Given the description of an element on the screen output the (x, y) to click on. 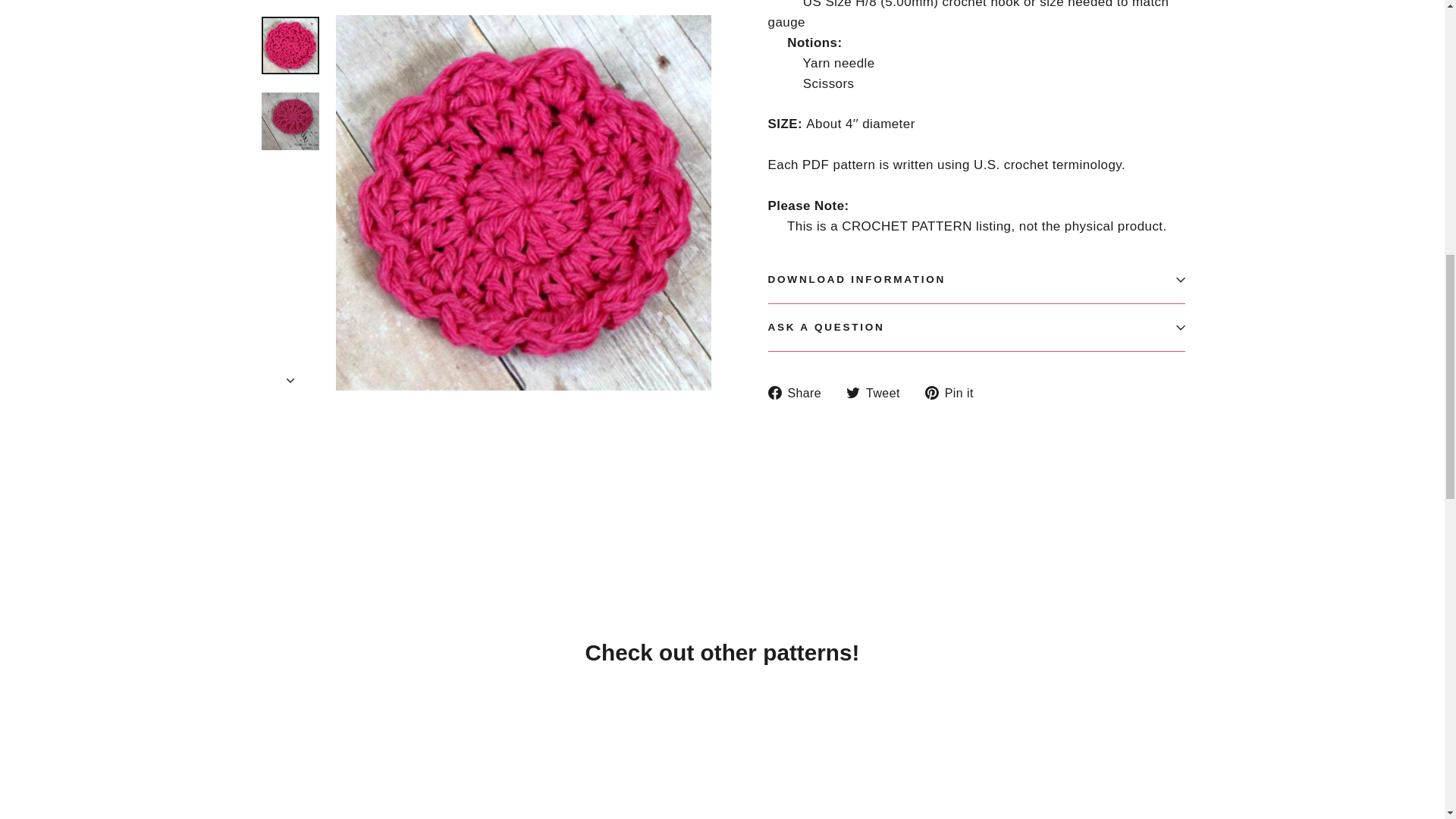
twitter (852, 392)
Pin on Pinterest (954, 393)
Share on Facebook (799, 393)
Tweet on Twitter (878, 393)
